Given the description of an element on the screen output the (x, y) to click on. 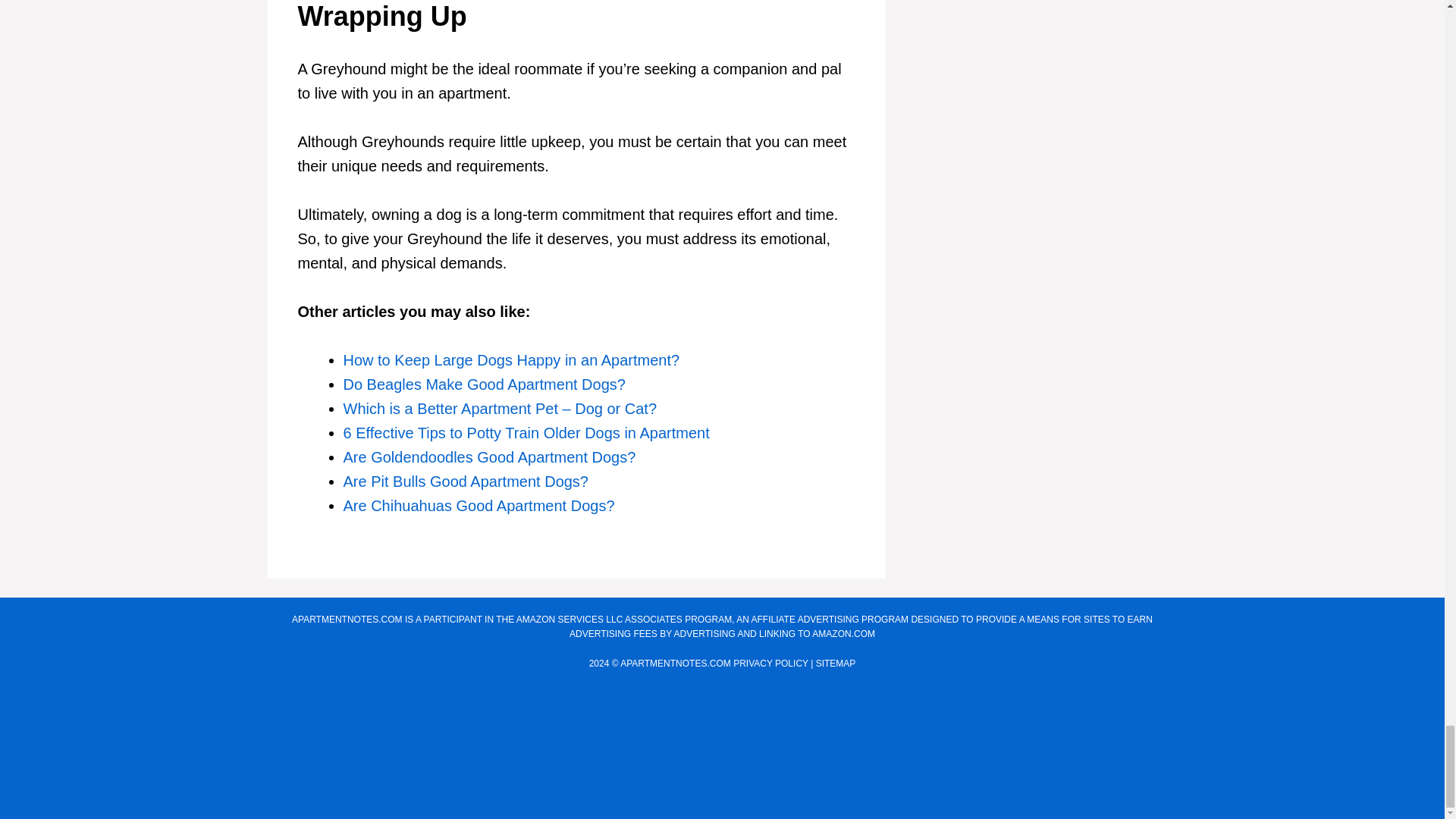
6 Effective Tips to Potty Train Older Dogs in Apartment (525, 433)
How to Keep Large Dogs Happy in an Apartment? (510, 360)
Do Beagles Make Good Apartment Dogs? (483, 384)
Are Pit Bulls Good Apartment Dogs? (465, 481)
Are Chihuahuas Good Apartment Dogs? (478, 505)
Are Goldendoodles Good Apartment Dogs? (488, 457)
